Given the description of an element on the screen output the (x, y) to click on. 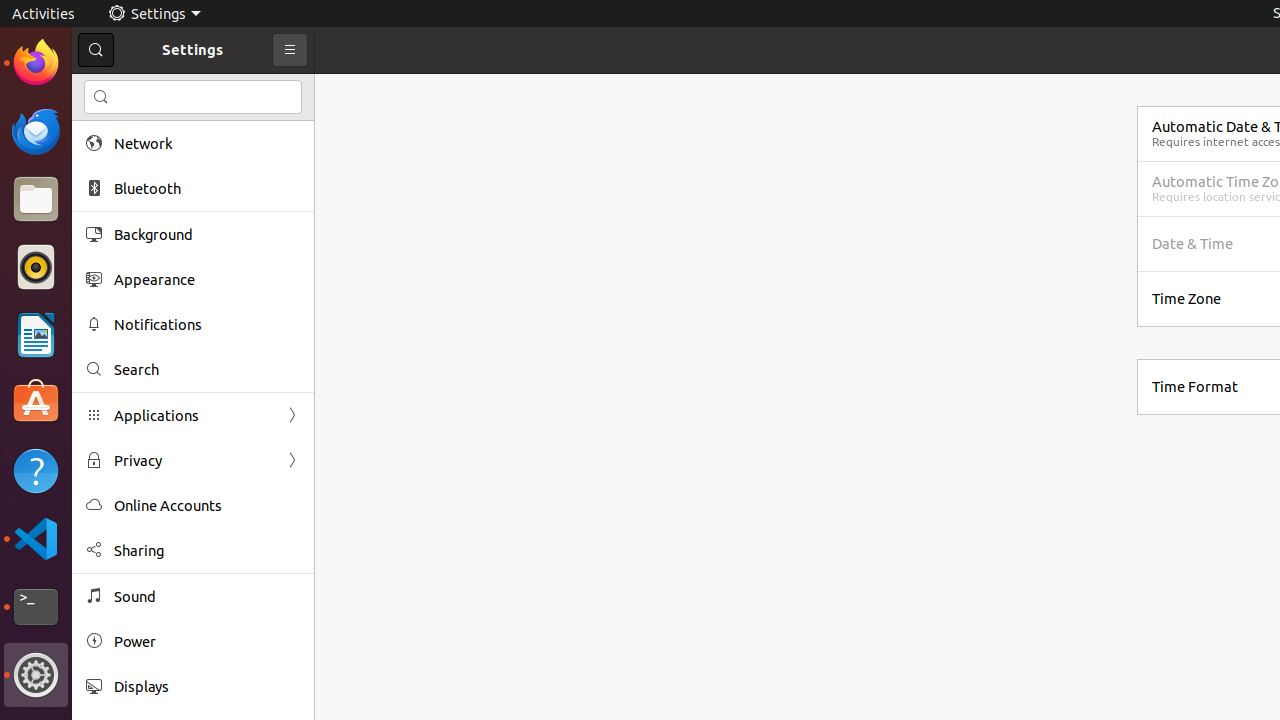
Firefox Web Browser Element type: push-button (36, 63)
Background Element type: label (207, 234)
Activities Element type: label (43, 13)
luyi1 Element type: label (133, 89)
IsaHelpMain.desktop Element type: label (133, 300)
